Given the description of an element on the screen output the (x, y) to click on. 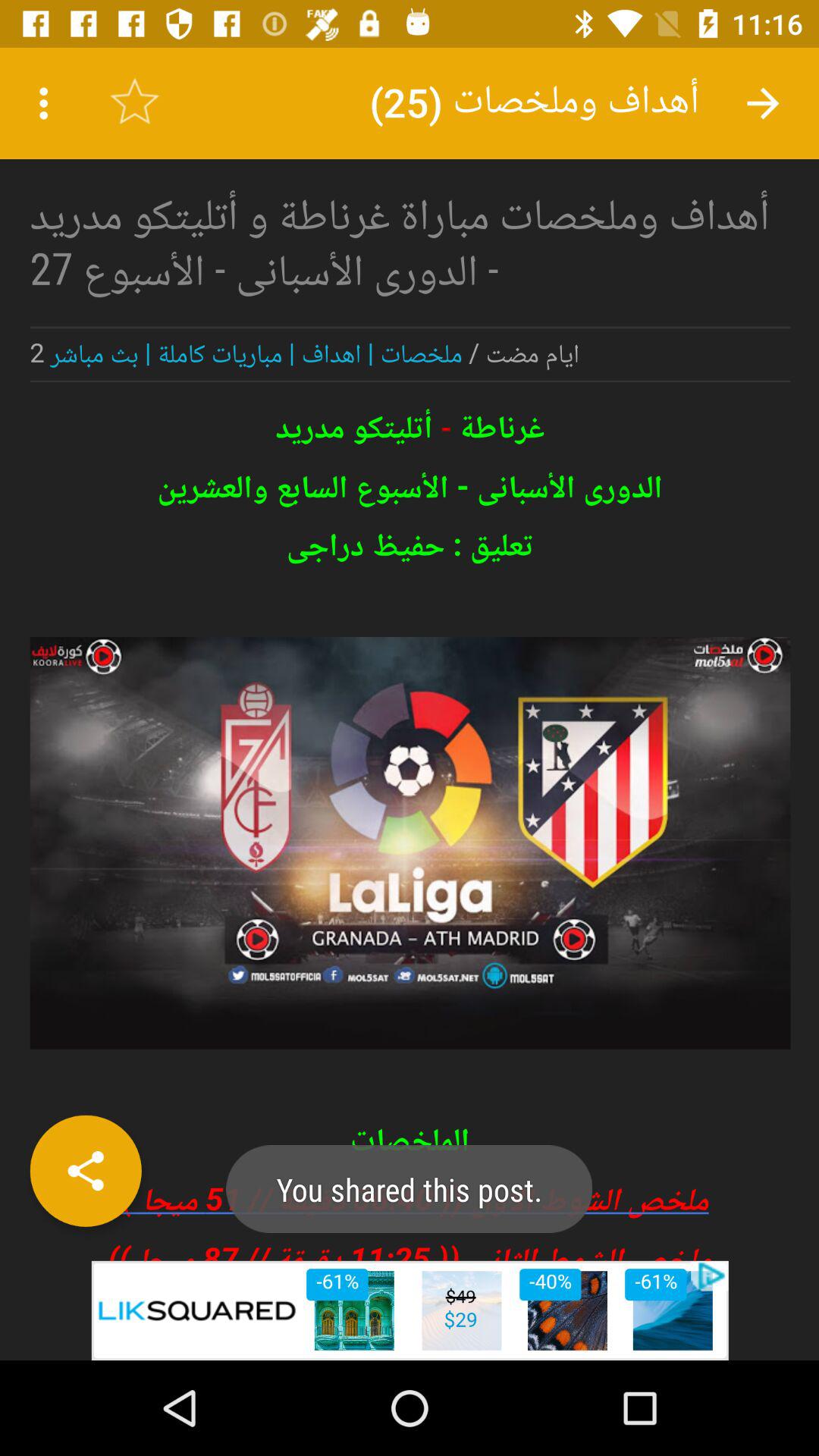
select advertisement (409, 1310)
